Given the description of an element on the screen output the (x, y) to click on. 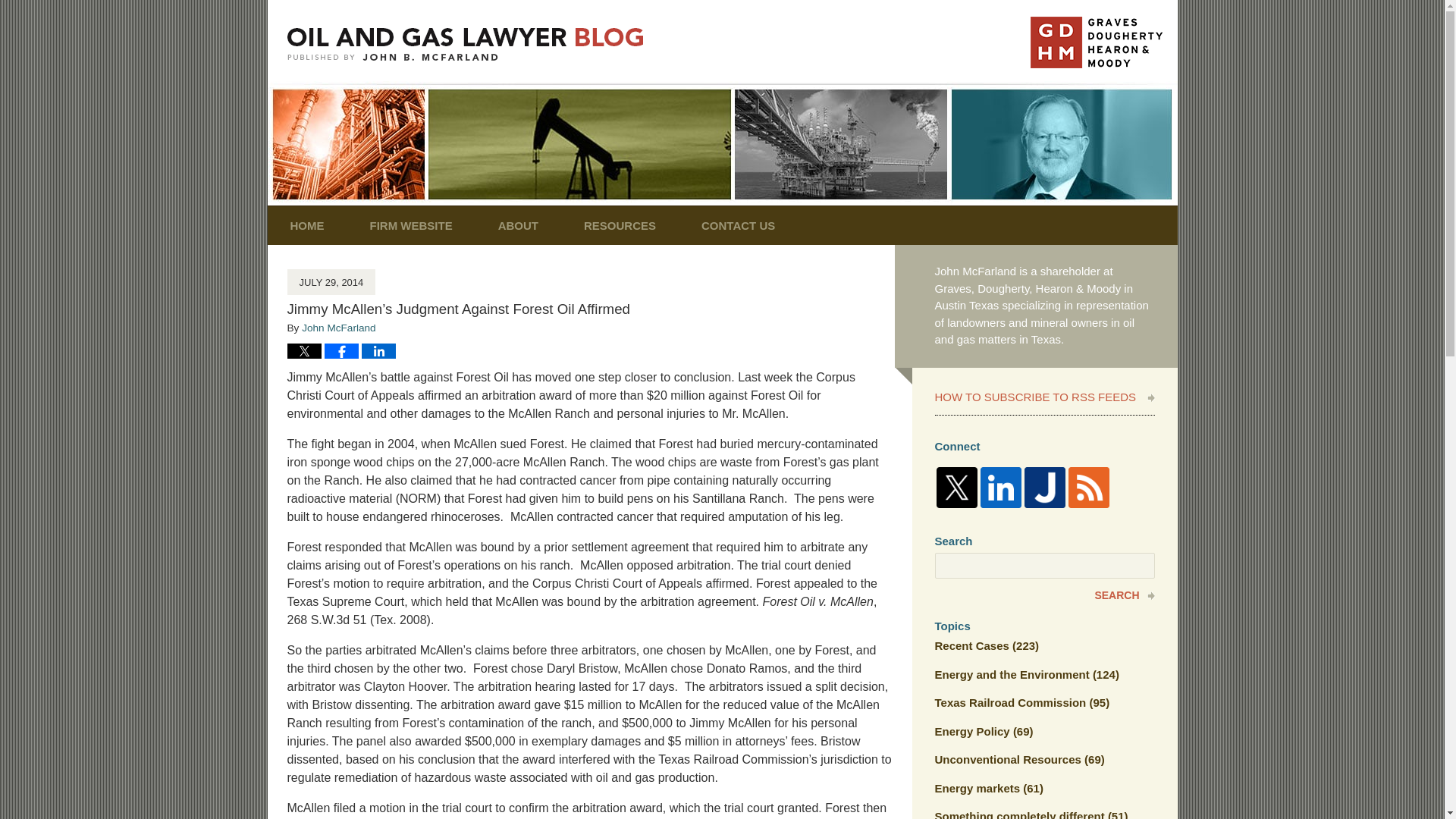
Feed (1087, 486)
CONTACT US (737, 225)
ABOUT (518, 225)
Published By John McFarland (1095, 41)
RESOURCES (619, 225)
Oil and Gas Lawyer Blog (464, 44)
Justia (1043, 486)
SEARCH (1044, 594)
Twitter (956, 486)
LinkedIn (1000, 486)
